Given the description of an element on the screen output the (x, y) to click on. 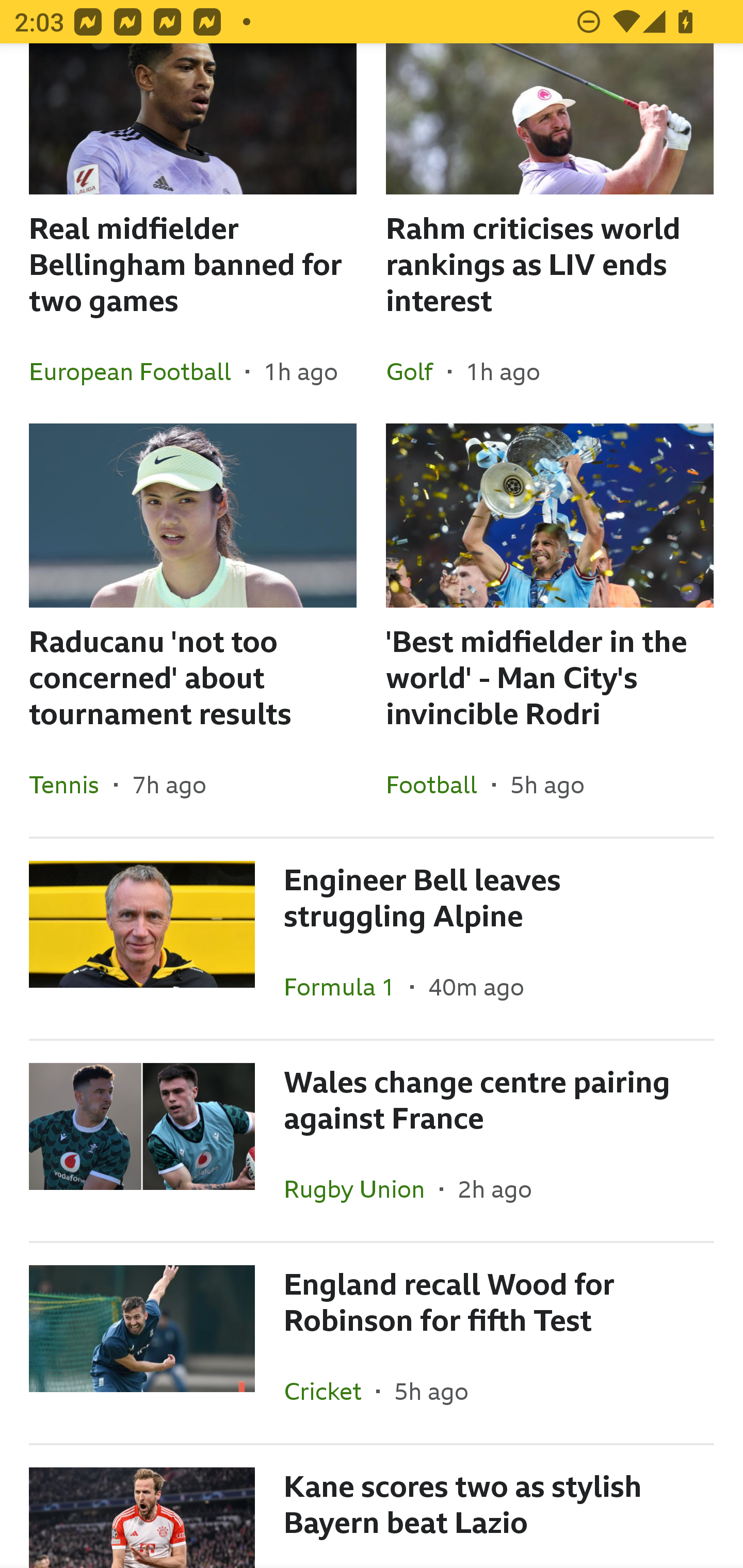
European Football In the section European Football (136, 371)
Golf In the section Golf (416, 371)
Tennis In the section Tennis (70, 784)
Football In the section Football (438, 784)
Formula 1 In the section Formula 1 (346, 986)
Rugby Union In the section Rugby Union (361, 1188)
Cricket In the section Cricket (329, 1390)
